Given the description of an element on the screen output the (x, y) to click on. 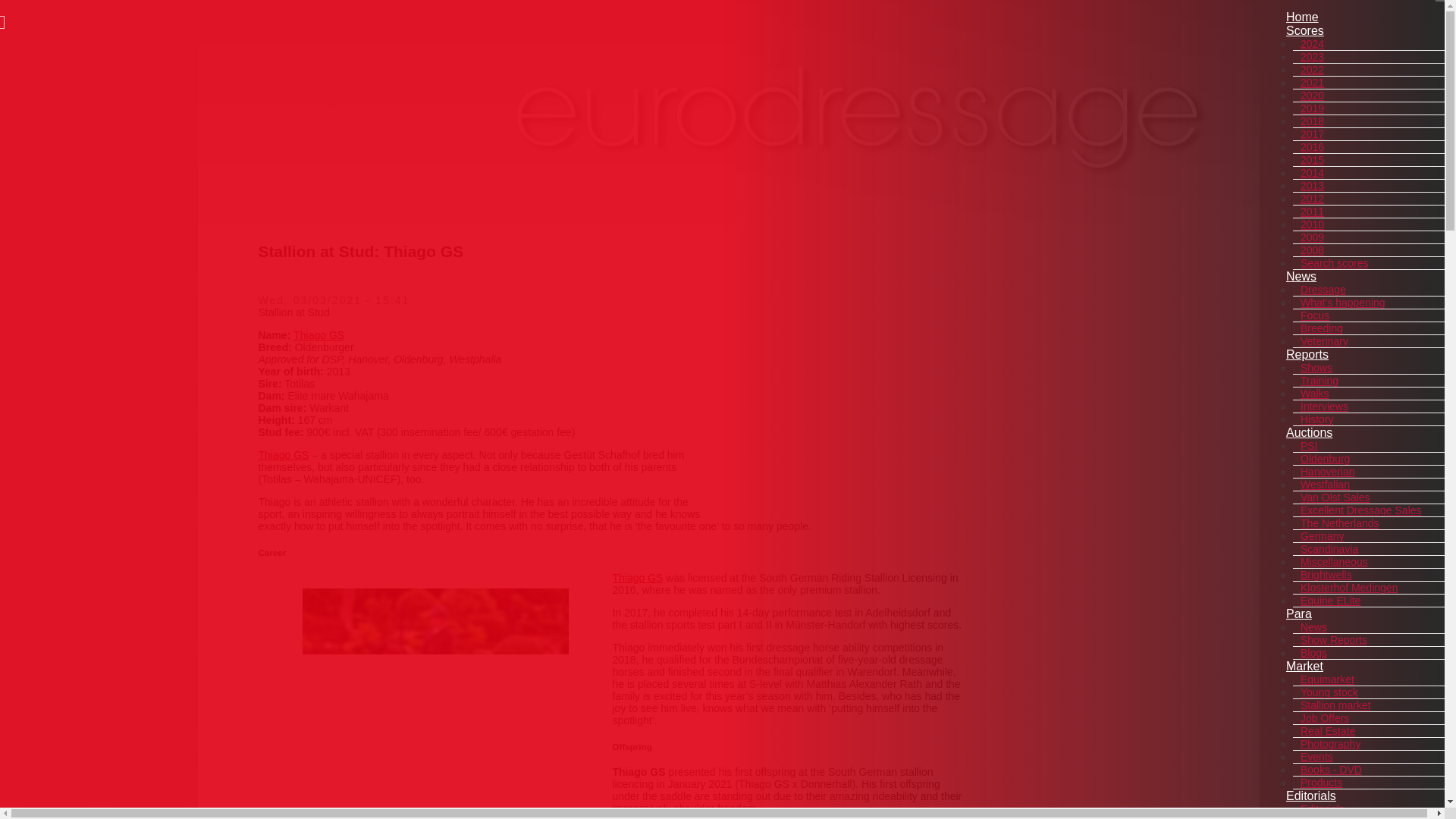
What's happening (1342, 302)
Westfalian (1324, 483)
Shows (1315, 367)
2012 (1312, 198)
Focus (1314, 315)
Hanoverian (1327, 471)
Home (1301, 16)
2023 (1312, 56)
Reports (1307, 354)
2018 (1312, 121)
Scores (1304, 30)
Oldenburg (1324, 458)
Search scores (1333, 262)
Breeding (1321, 328)
